Given the description of an element on the screen output the (x, y) to click on. 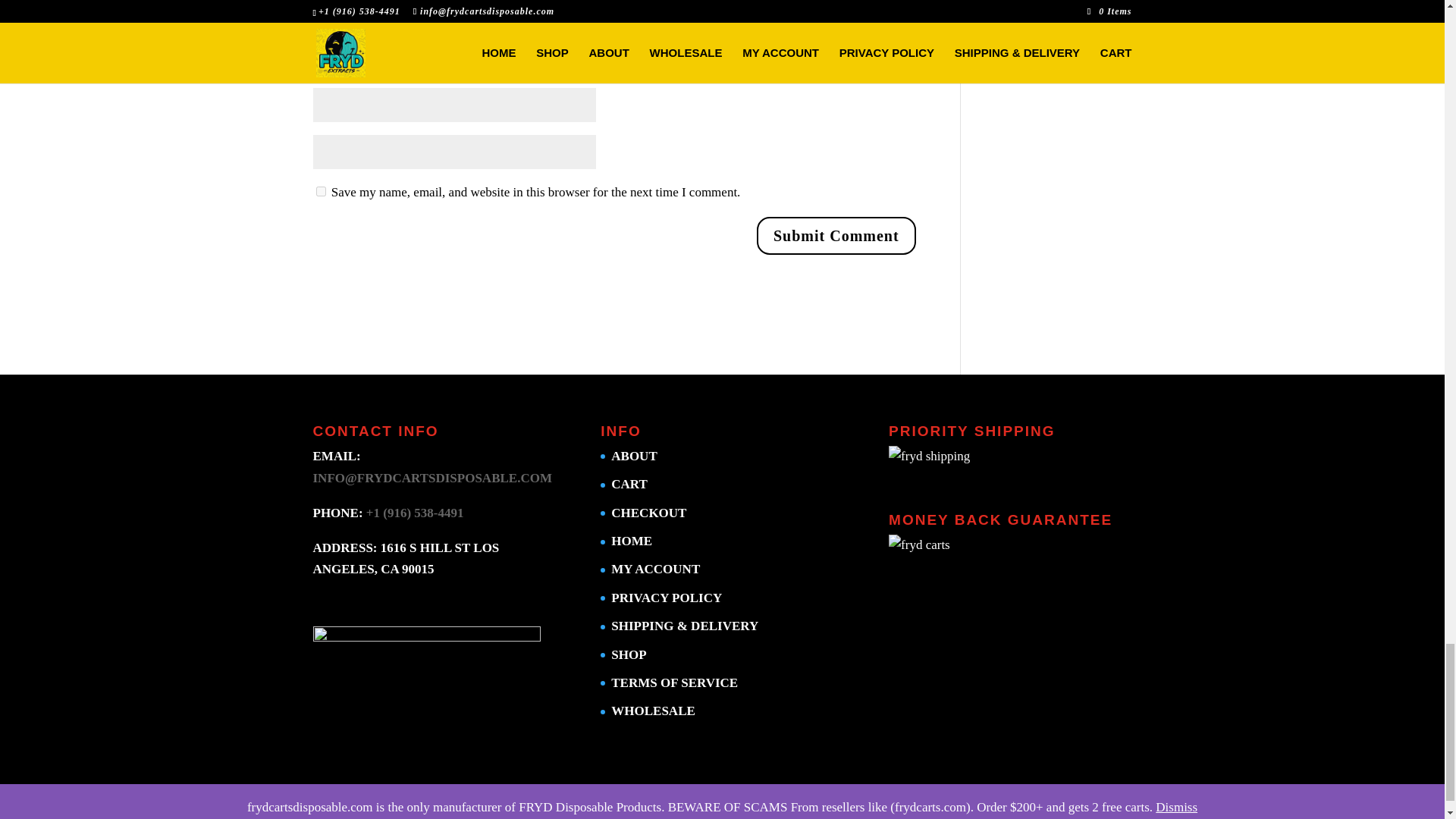
CHECKOUT (648, 513)
Submit Comment (836, 235)
CART (629, 483)
HOME (631, 540)
yes (319, 191)
Submit Comment (836, 235)
MY ACCOUNT (655, 568)
ABOUT (633, 455)
